Given the description of an element on the screen output the (x, y) to click on. 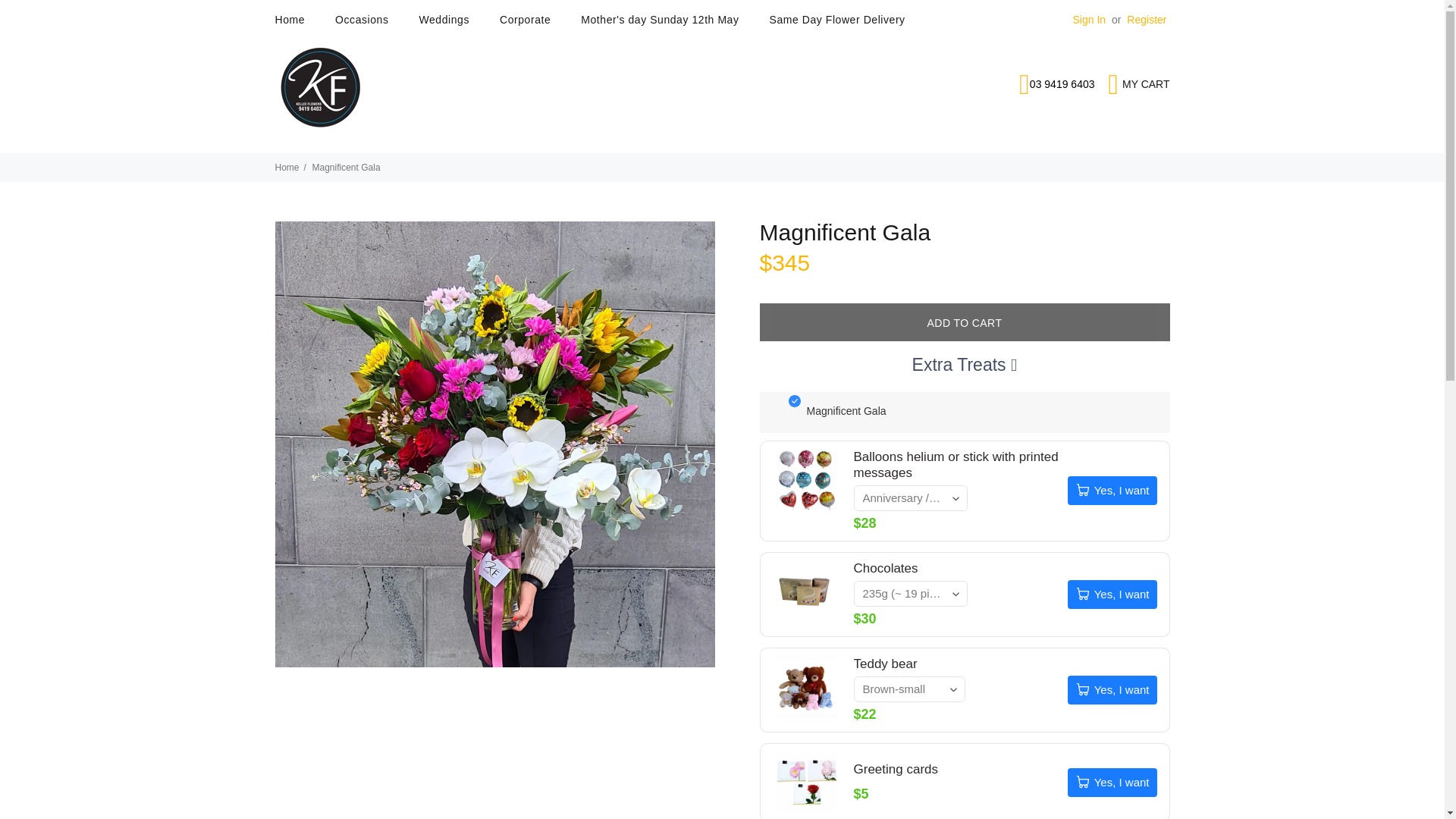
Occasions (361, 19)
Weddings (443, 19)
Corporate (525, 19)
Home (297, 19)
Mother's day Sunday 12th May (660, 19)
Same Day Flower Delivery (829, 19)
Sign In (1089, 19)
